Given the description of an element on the screen output the (x, y) to click on. 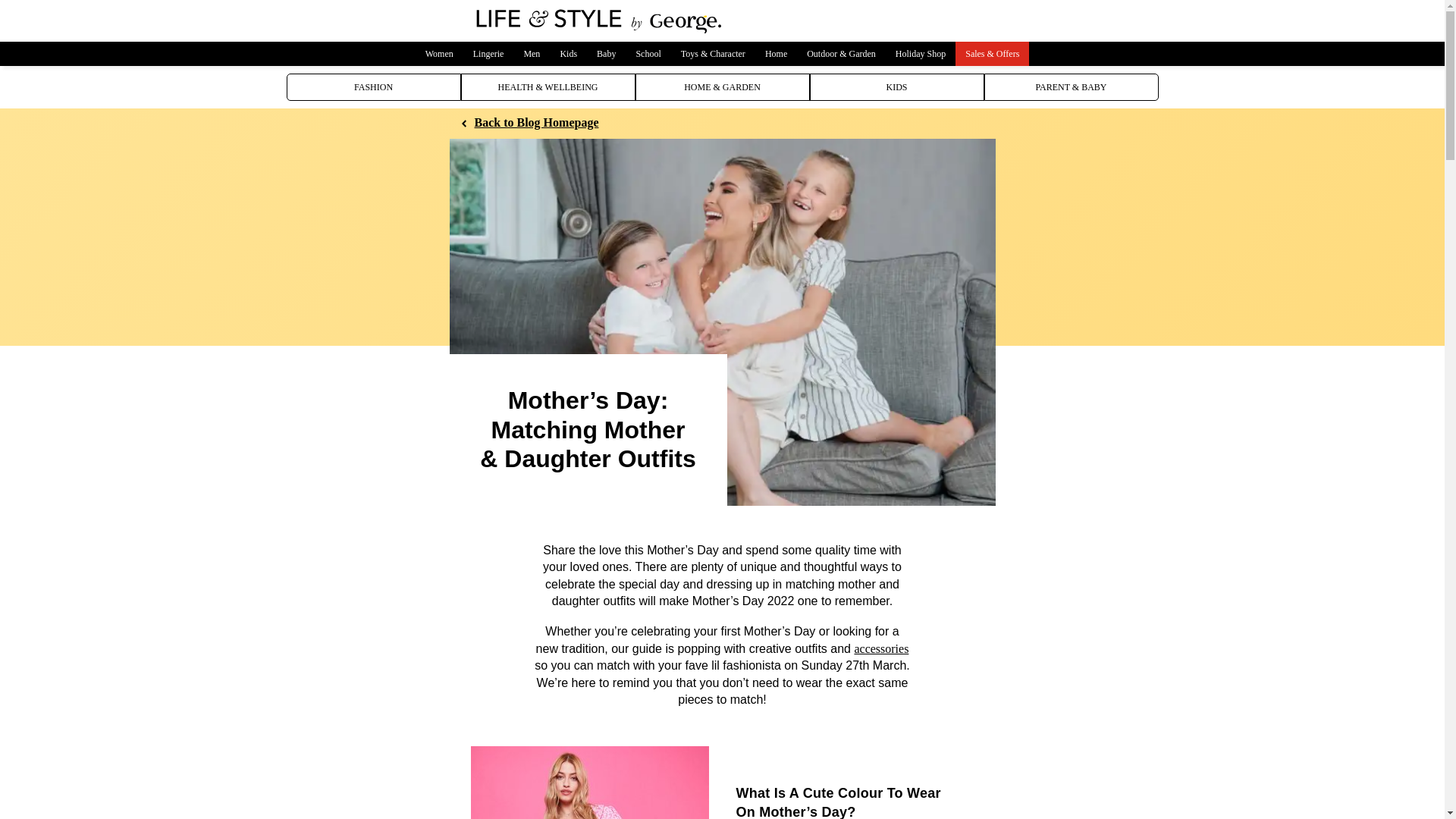
Kids (568, 53)
Lingerie (488, 53)
accessories (880, 648)
School (647, 53)
FASHION (373, 86)
KIDS (896, 86)
Home (775, 53)
Men (531, 53)
Holiday Shop (920, 53)
Baby (606, 53)
